Given the description of an element on the screen output the (x, y) to click on. 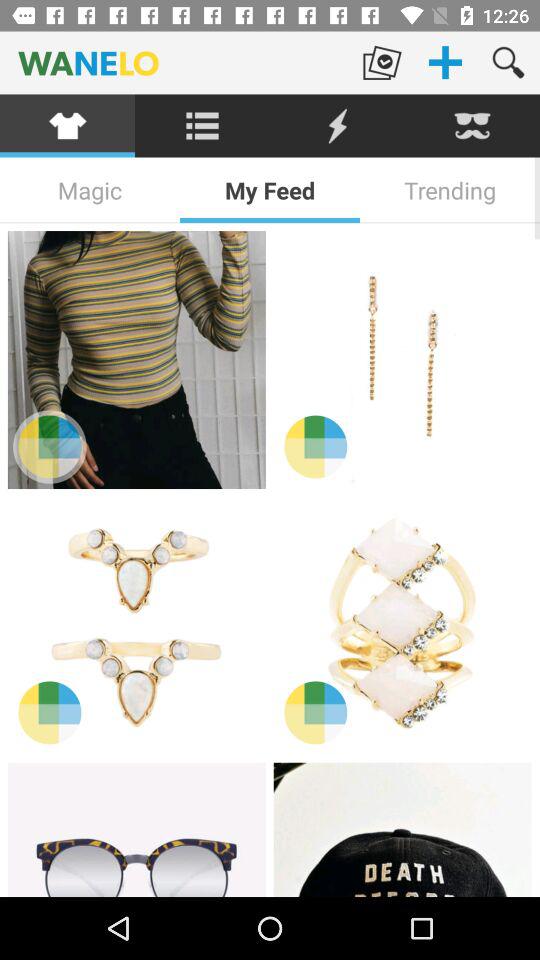
product image (136, 360)
